Given the description of an element on the screen output the (x, y) to click on. 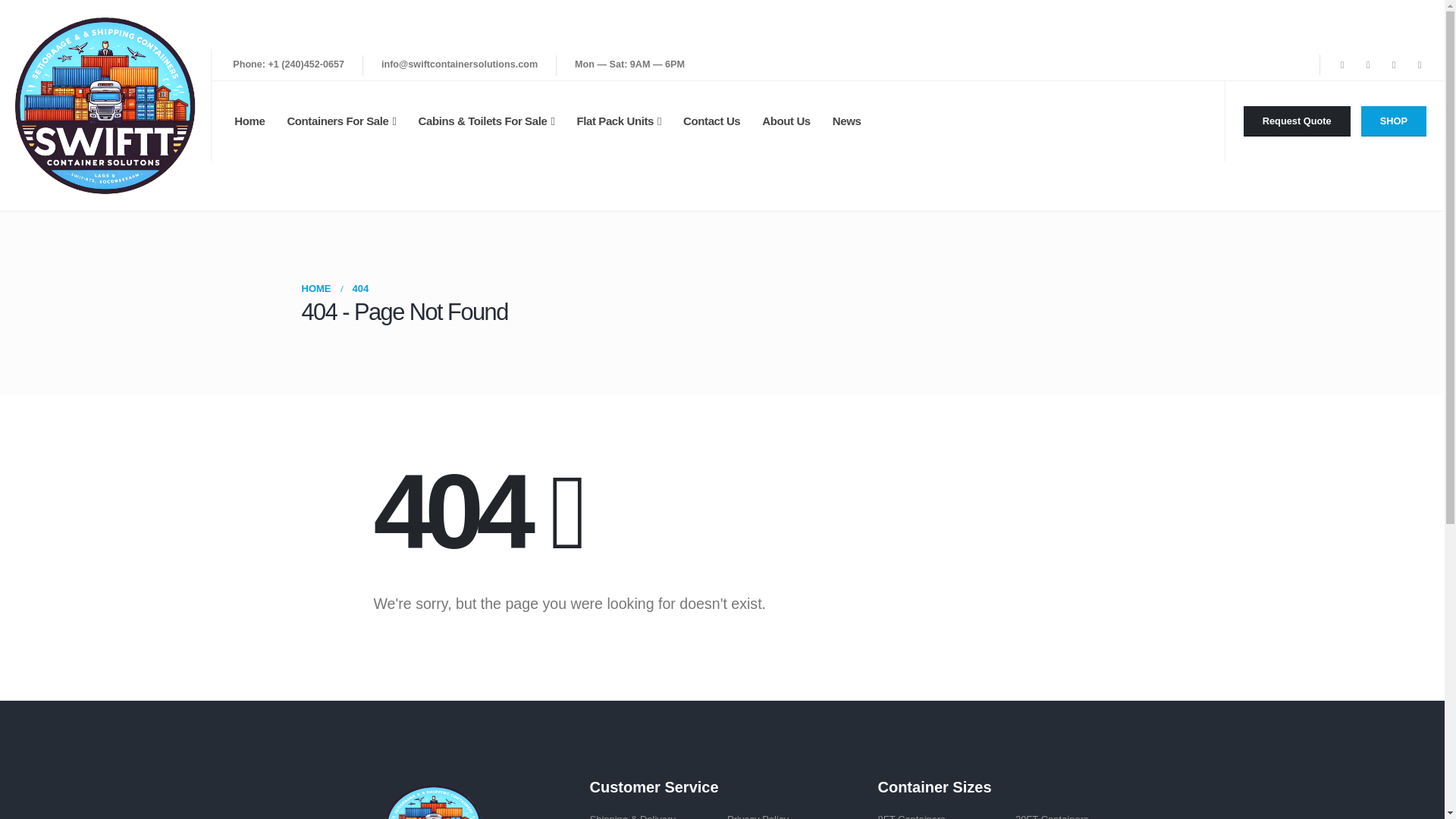
Containers For Sale (341, 121)
Flat Pack Units (618, 121)
LinkedIn (1419, 65)
Twitter (1367, 65)
Facebook (1342, 65)
Go to Home Page (316, 288)
Request Quote (1297, 121)
Contact Us (711, 121)
Instagram (1394, 65)
SHOP (1393, 121)
